Given the description of an element on the screen output the (x, y) to click on. 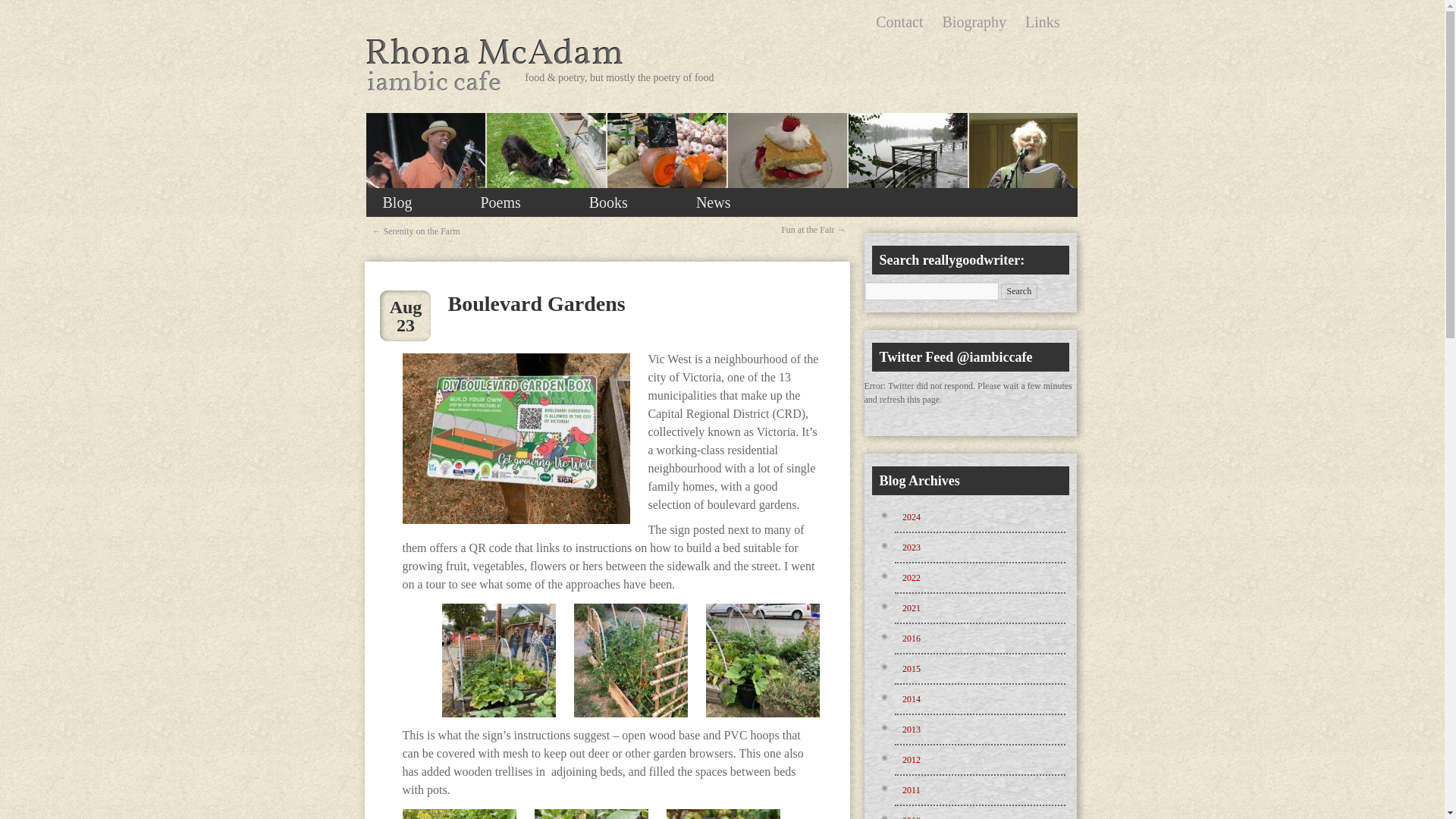
GardenTourLunchStrawberryShortcake.jpg (788, 157)
Books (607, 202)
Links (1042, 21)
EricBibb.jpg (425, 175)
MarketPumpkin.jpg (666, 154)
PeterReadsCrypt1.jpg (1029, 157)
2023 (911, 547)
Year 2023 archives (911, 547)
Poems (499, 202)
Year 2024 archives (911, 516)
Search (1019, 291)
News (713, 202)
OysterBeachFarmDownFacingDog.jpg (546, 158)
RainSeptember.jpg (907, 160)
2024 (911, 516)
